Given the description of an element on the screen output the (x, y) to click on. 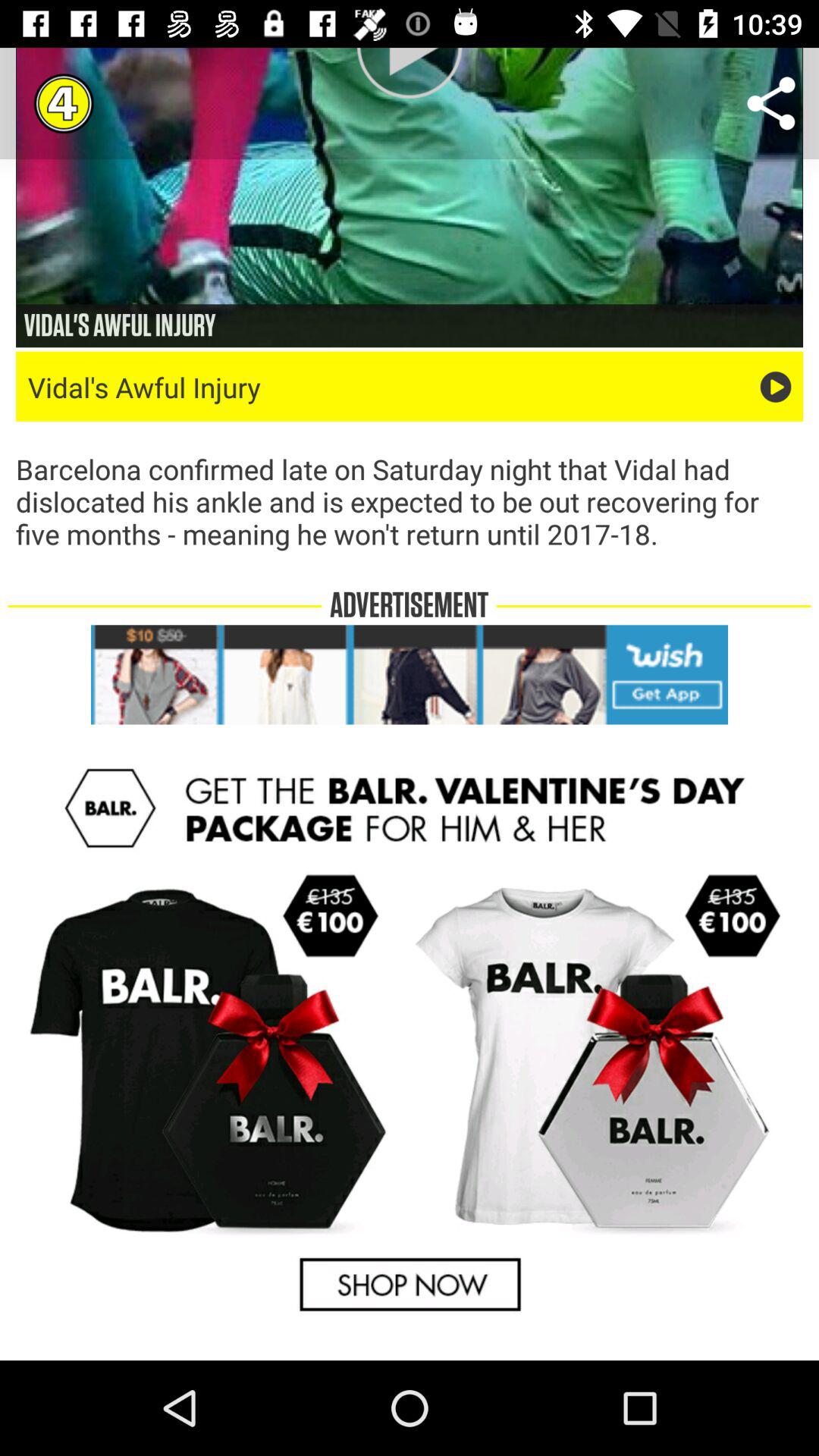
advertisement page (409, 1040)
